Given the description of an element on the screen output the (x, y) to click on. 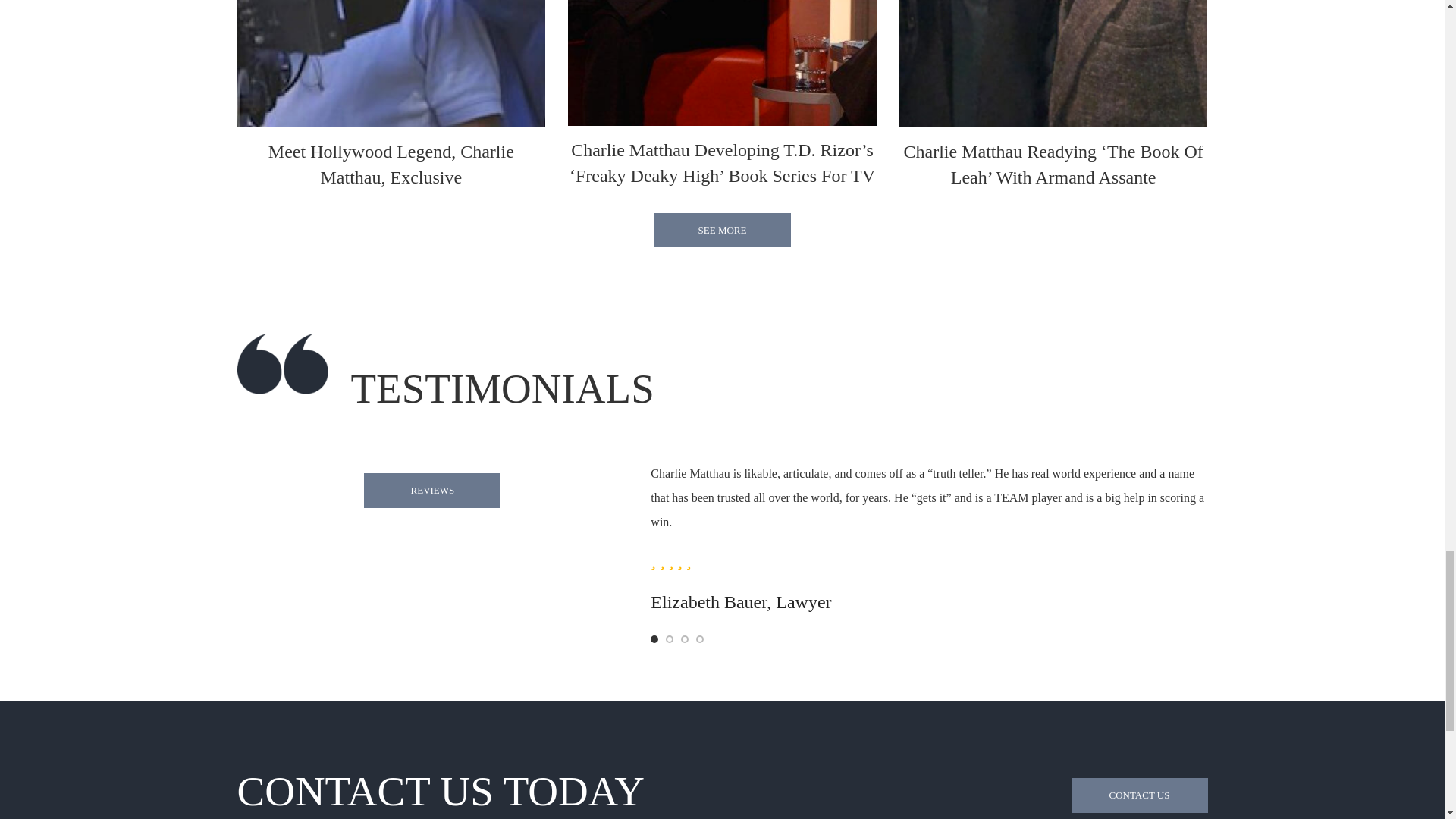
CONTACT US (1138, 795)
Contact Us (1138, 795)
Testimonials (432, 490)
REVIEWS (432, 490)
Case Studies (721, 230)
SEE MORE (721, 230)
